Given the description of an element on the screen output the (x, y) to click on. 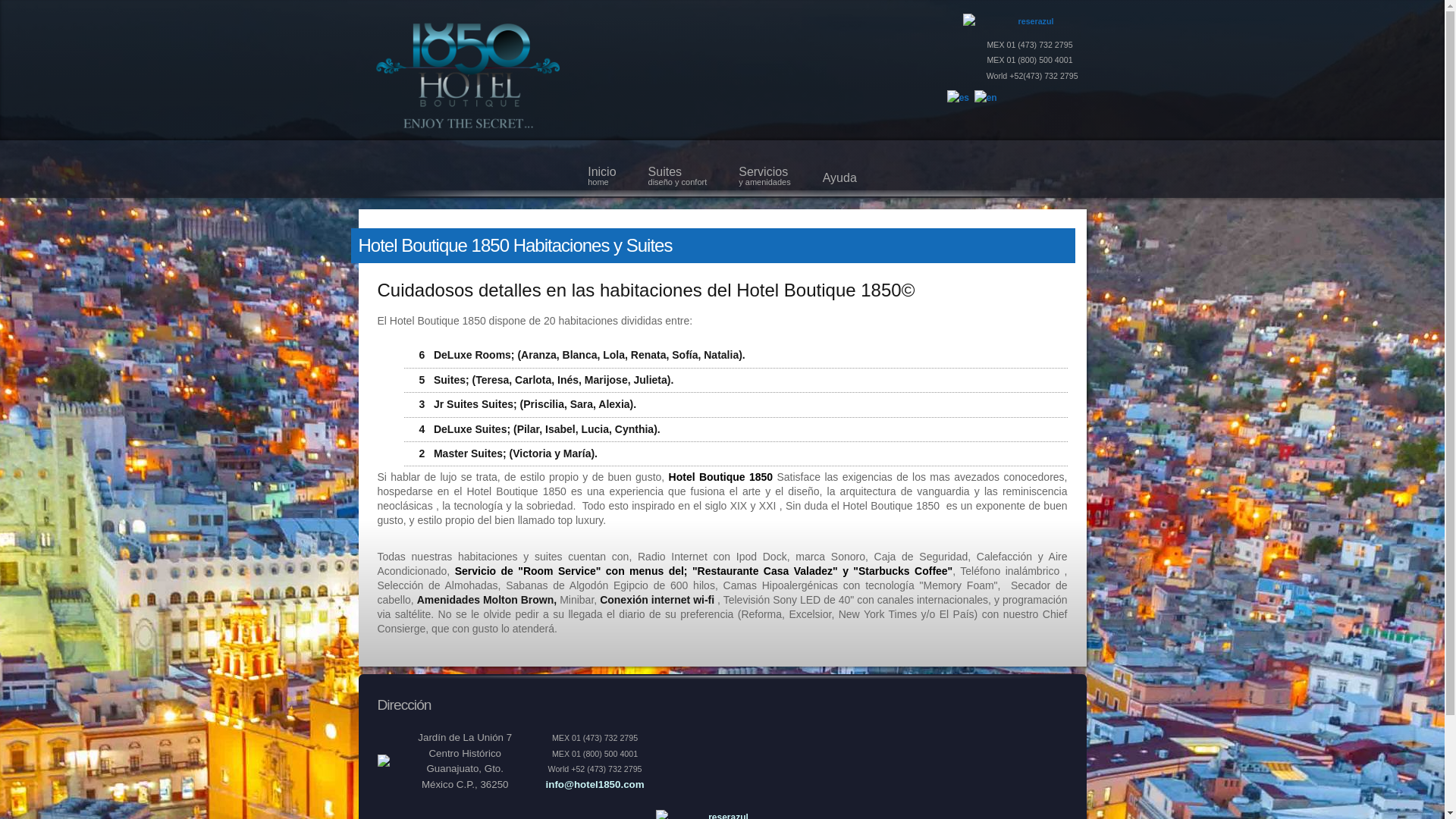
info@hotel1850.com Element type: text (595, 784)
Inicio
home Element type: text (601, 168)
Hotel Boutique 1850 Habitaciones y Suites Element type: text (514, 245)
